Given the description of an element on the screen output the (x, y) to click on. 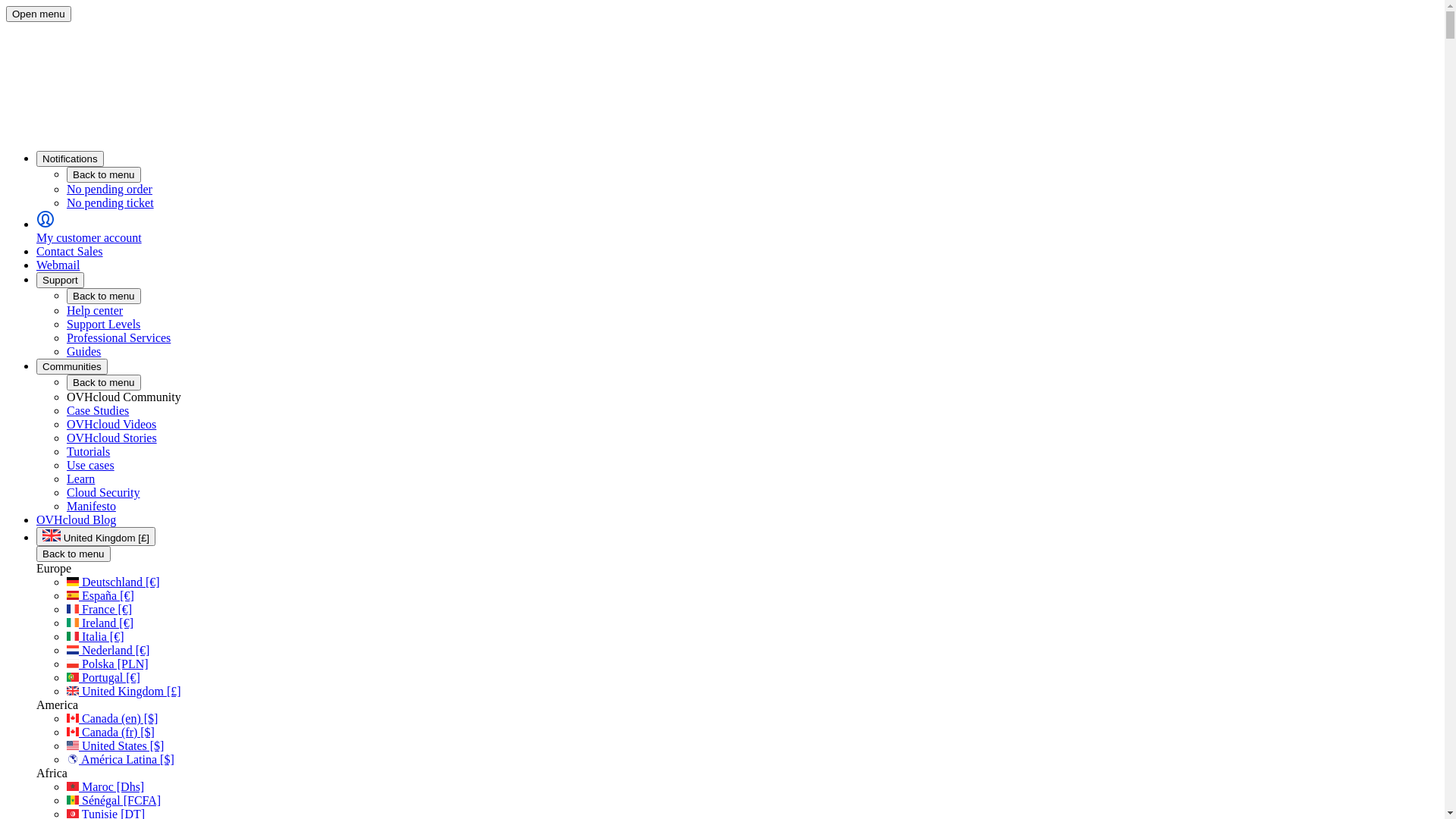
Canada (en) [$] Element type: text (111, 718)
OVHcloud Blog Element type: text (76, 519)
Professional Services Element type: text (118, 337)
Support Levels Element type: text (103, 323)
Communities Element type: text (71, 366)
OVHcloud Stories Element type: text (111, 437)
Polska [PLN] Element type: text (107, 663)
Guides Element type: text (83, 351)
Notifications Element type: text (69, 158)
Back to menu Element type: text (103, 382)
Back to menu Element type: text (103, 174)
Learn Element type: text (80, 478)
Tutorials Element type: text (87, 451)
Use cases Element type: text (90, 464)
Case Studies Element type: text (97, 410)
Help center Element type: text (94, 310)
Cloud Security Element type: text (102, 492)
Back to menu Element type: text (73, 553)
My customer account Element type: text (737, 227)
Manifesto Element type: text (91, 505)
United States [$] Element type: text (114, 745)
No pending ticket Element type: text (752, 203)
Contact Sales Element type: text (69, 250)
OVHcloud Videos Element type: text (111, 423)
Support Element type: text (60, 280)
Open menu Element type: text (38, 13)
Maroc [Dhs] Element type: text (105, 786)
Webmail Element type: text (57, 264)
Back to menu Element type: text (103, 296)
No pending order Element type: text (752, 189)
Canada (fr) [$] Element type: text (110, 731)
